Given the description of an element on the screen output the (x, y) to click on. 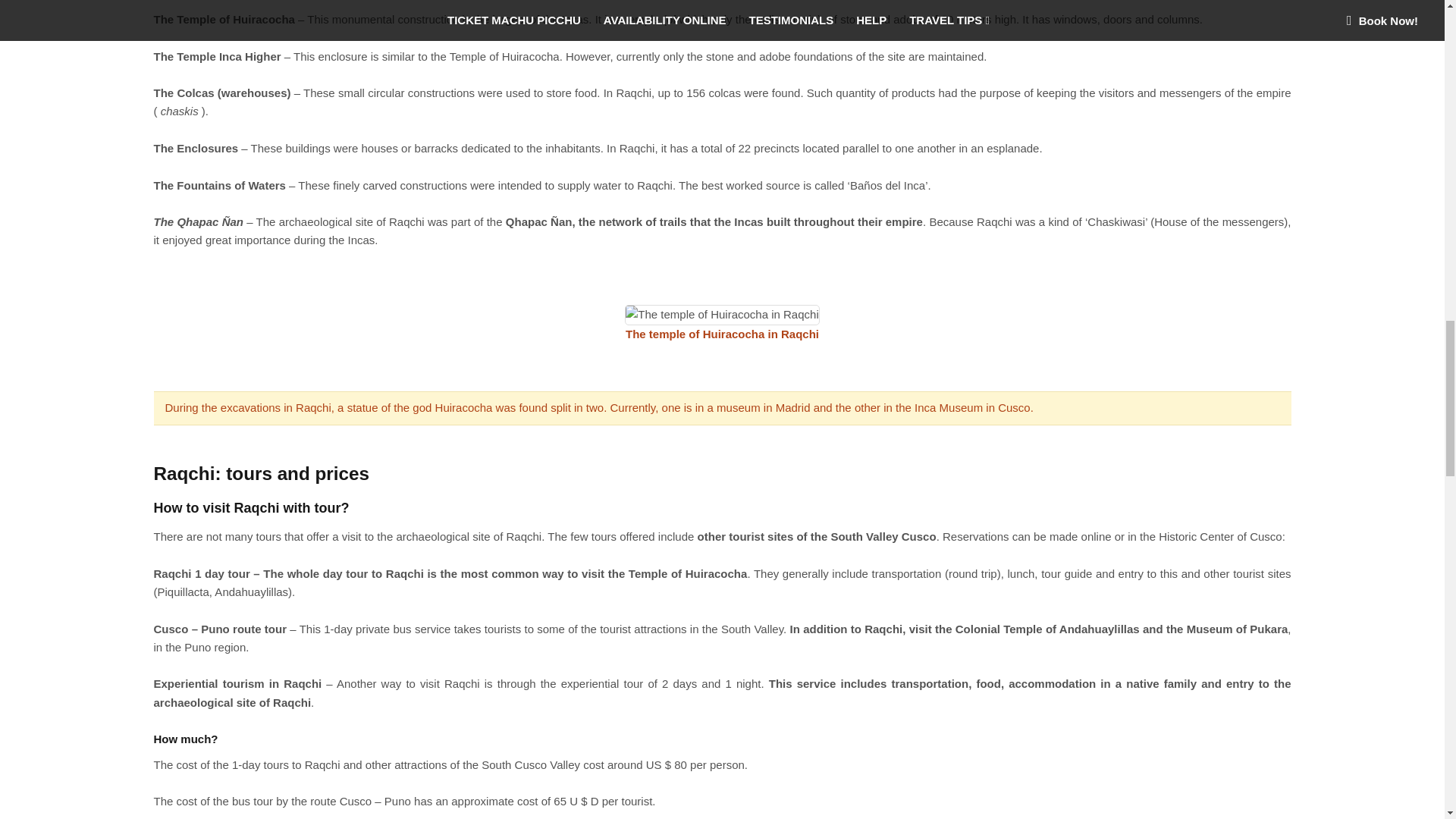
Temple of Huiracocha (721, 314)
